Given the description of an element on the screen output the (x, y) to click on. 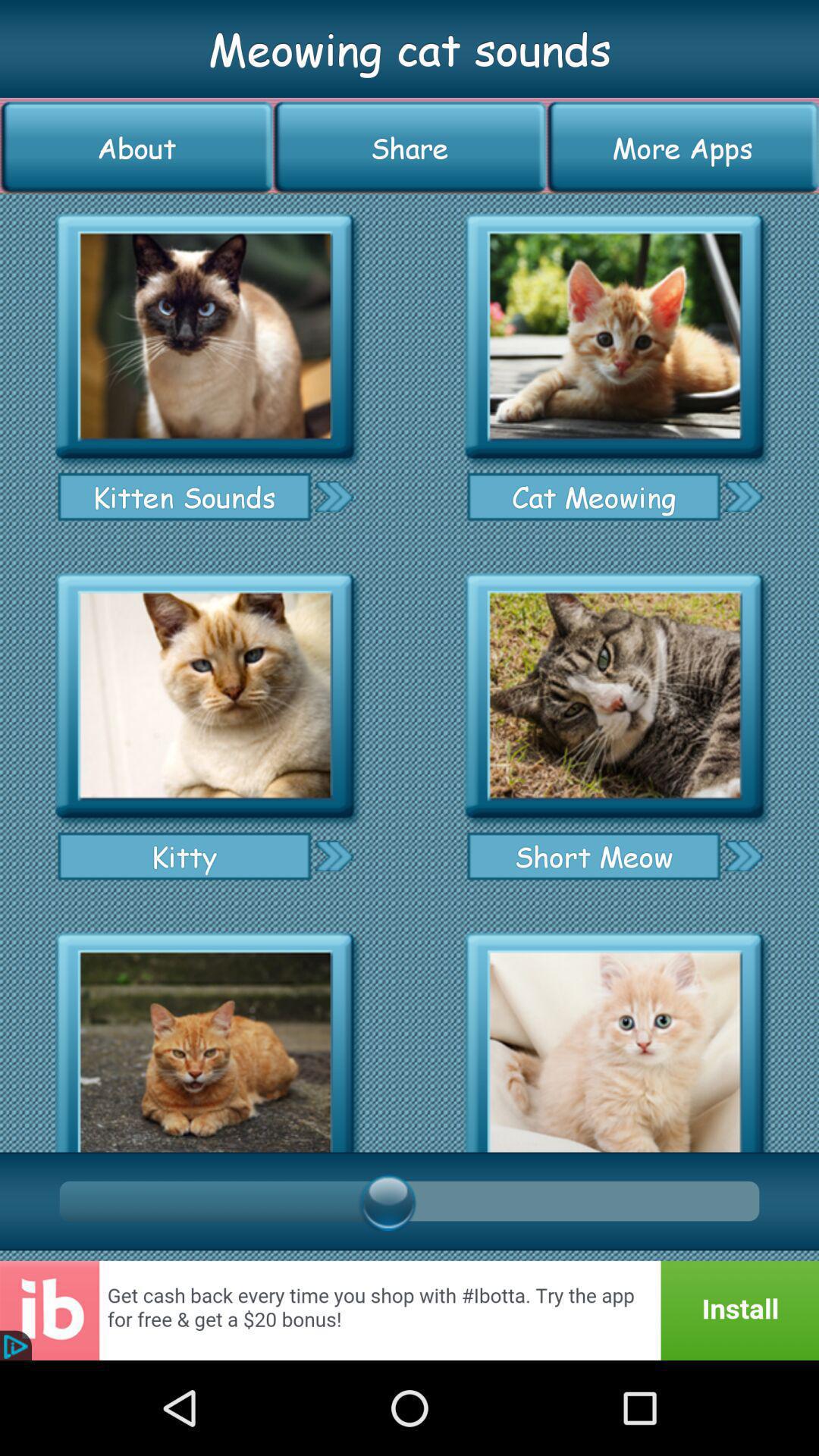
press kitten sounds item (184, 496)
